Given the description of an element on the screen output the (x, y) to click on. 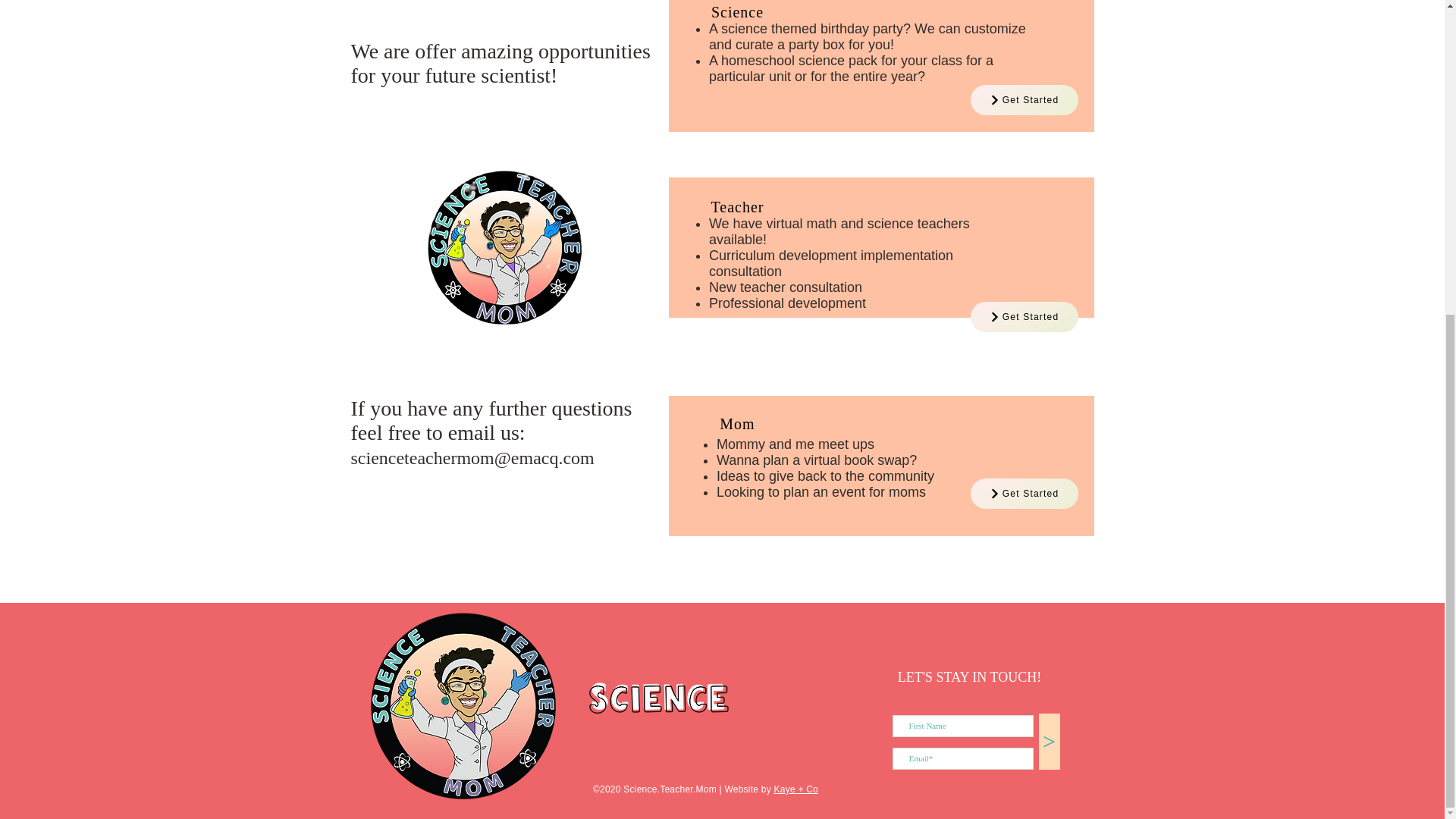
Teacher (737, 207)
Science (736, 12)
Get Started (1024, 493)
Mom (736, 423)
Get Started (1024, 317)
Get Started (1024, 100)
